Given the description of an element on the screen output the (x, y) to click on. 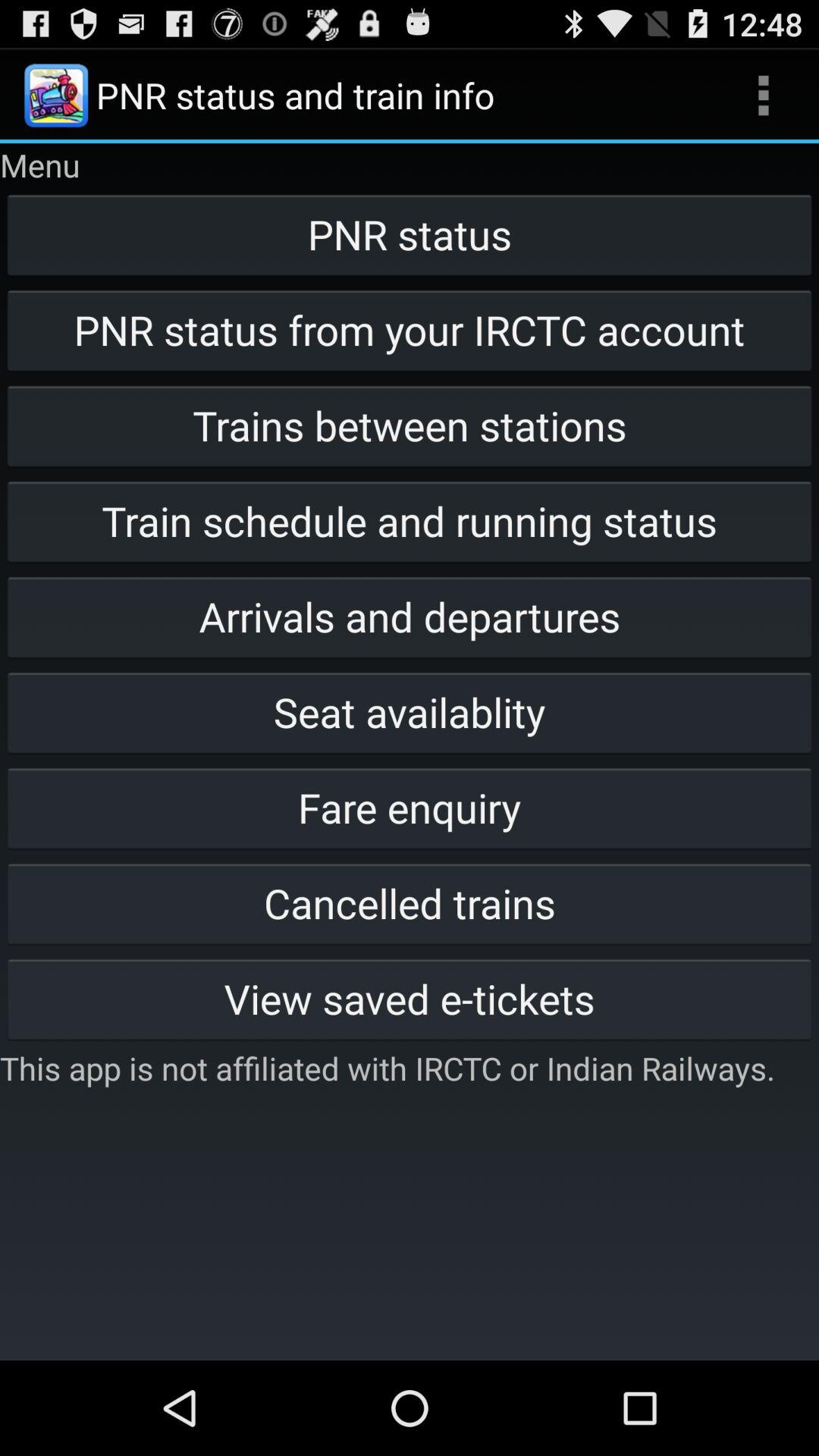
choose button above the seat availablity item (409, 616)
